Given the description of an element on the screen output the (x, y) to click on. 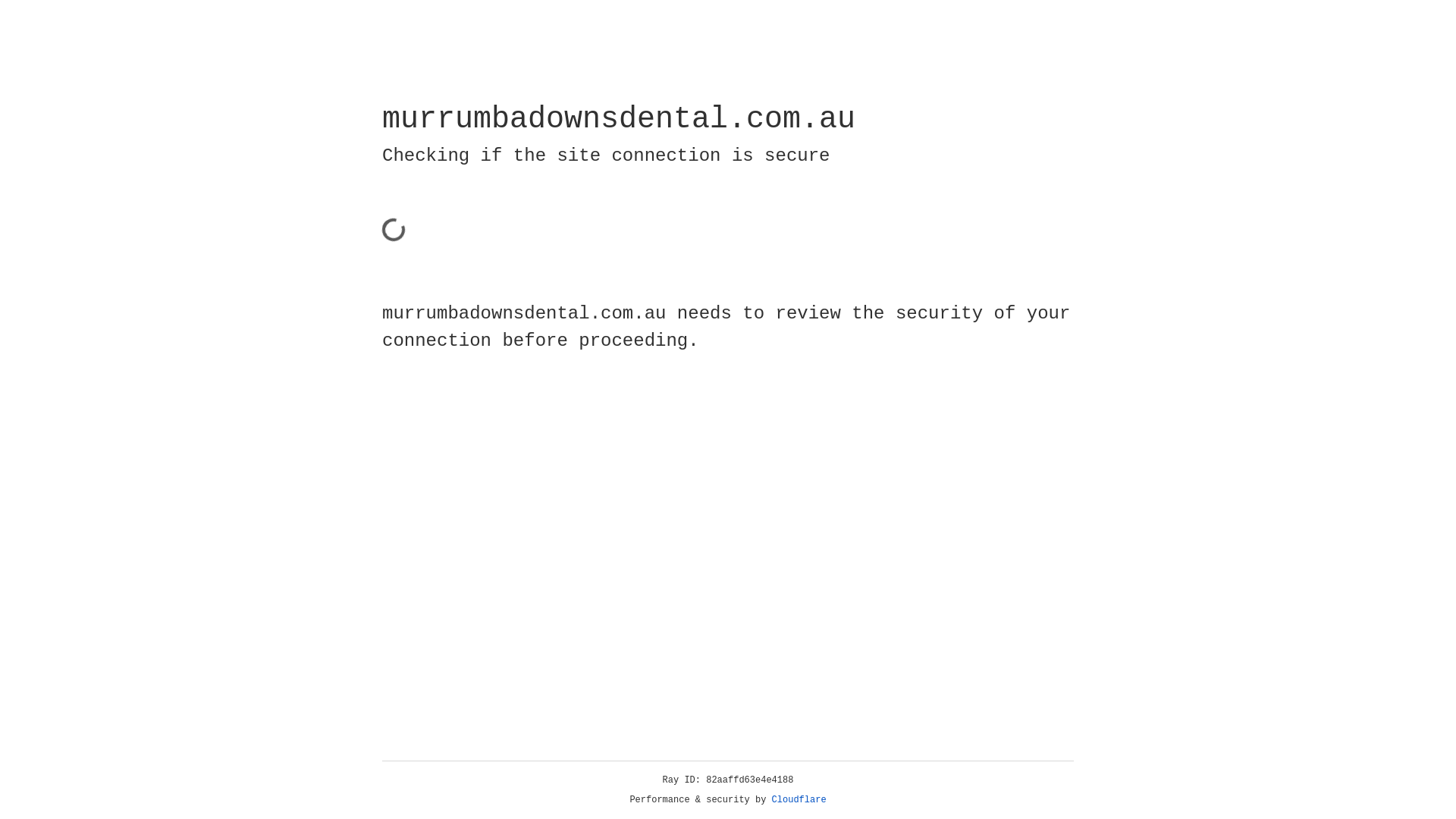
Cloudflare Element type: text (798, 799)
